Given the description of an element on the screen output the (x, y) to click on. 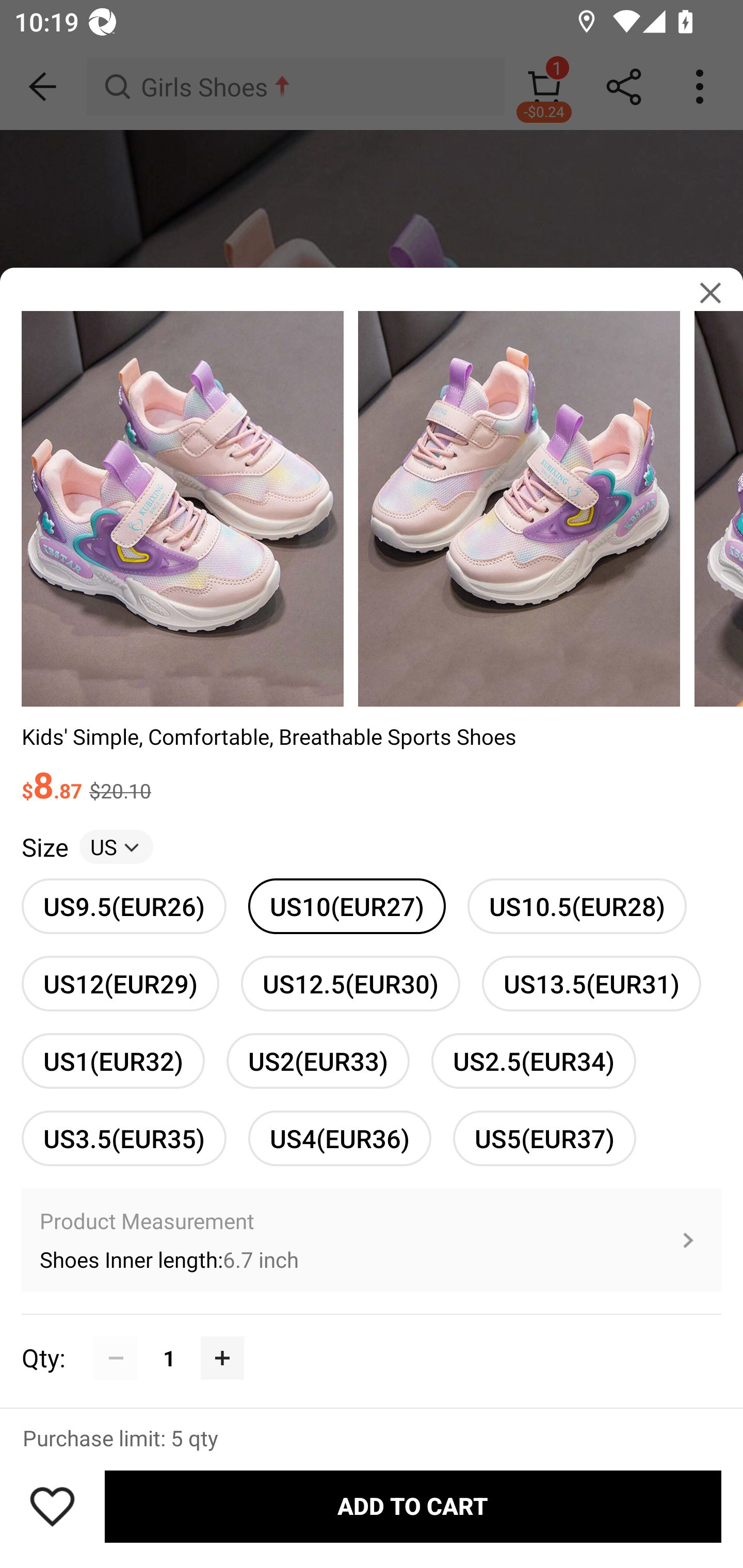
Size (44, 846)
US (116, 846)
US9.5(EUR26) US9.5(EUR26)unselected option (123, 906)
US10(EUR27) US10(EUR27)selected option (346, 906)
US10.5(EUR28) US10.5(EUR28)unselected option (576, 906)
US12(EUR29) US12(EUR29)unselected option (120, 983)
US12.5(EUR30) US12.5(EUR30)unselected option (349, 983)
US13.5(EUR31) US13.5(EUR31)unselected option (591, 983)
US1(EUR32) US1(EUR32)unselected option (113, 1060)
US2(EUR33) US2(EUR33)unselected option (317, 1060)
US2.5(EUR34) US2.5(EUR34)unselected option (533, 1060)
US3.5(EUR35) US3.5(EUR35)unselected option (123, 1138)
US4(EUR36) US4(EUR36)unselected option (339, 1138)
US5(EUR37) US5(EUR37)unselected option (544, 1138)
Product Measurement Shoes Inner length:6.7 inch (371, 1240)
ADD TO CART (412, 1506)
Save (52, 1505)
